Given the description of an element on the screen output the (x, y) to click on. 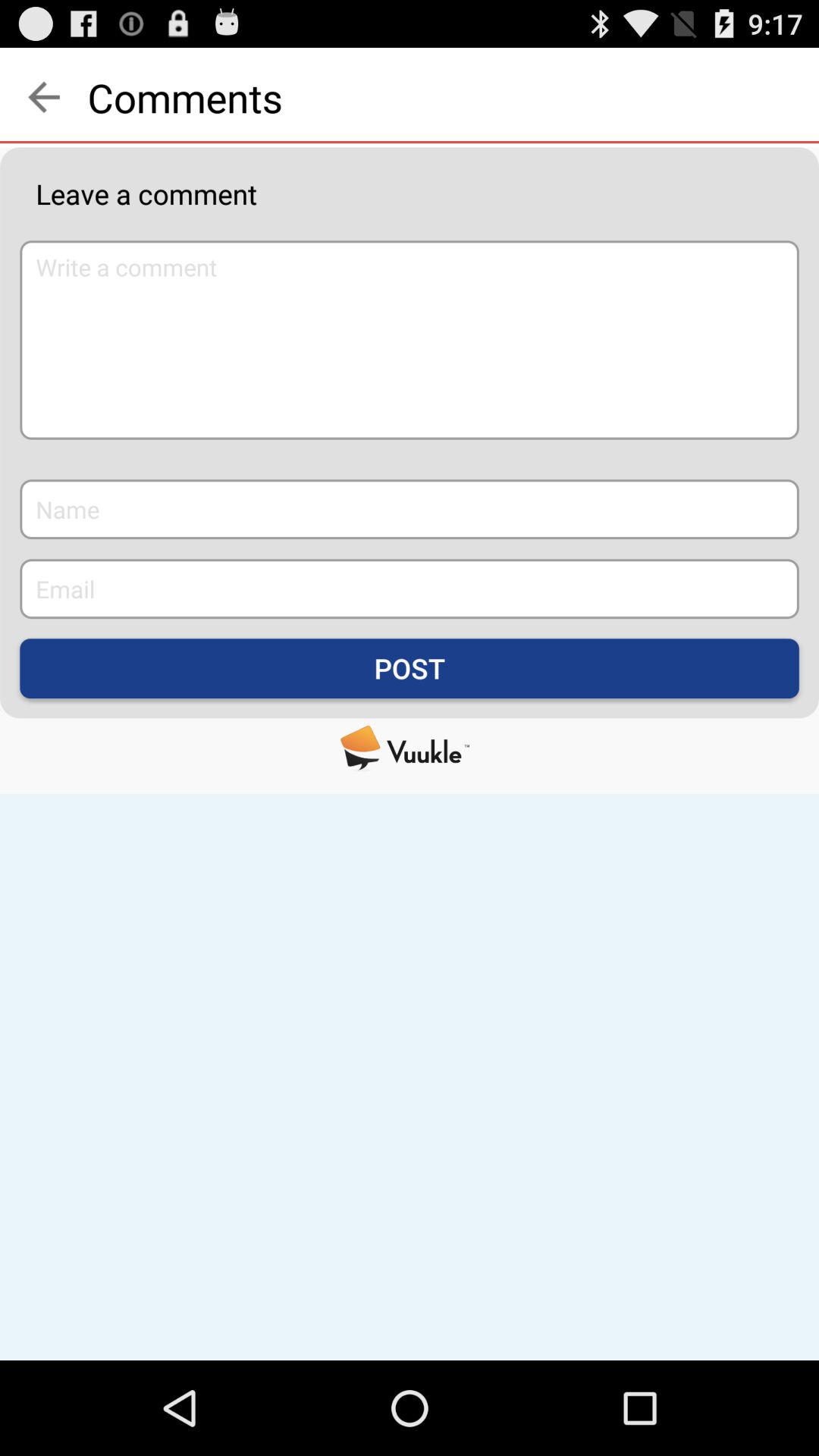
go to back button (43, 97)
